Given the description of an element on the screen output the (x, y) to click on. 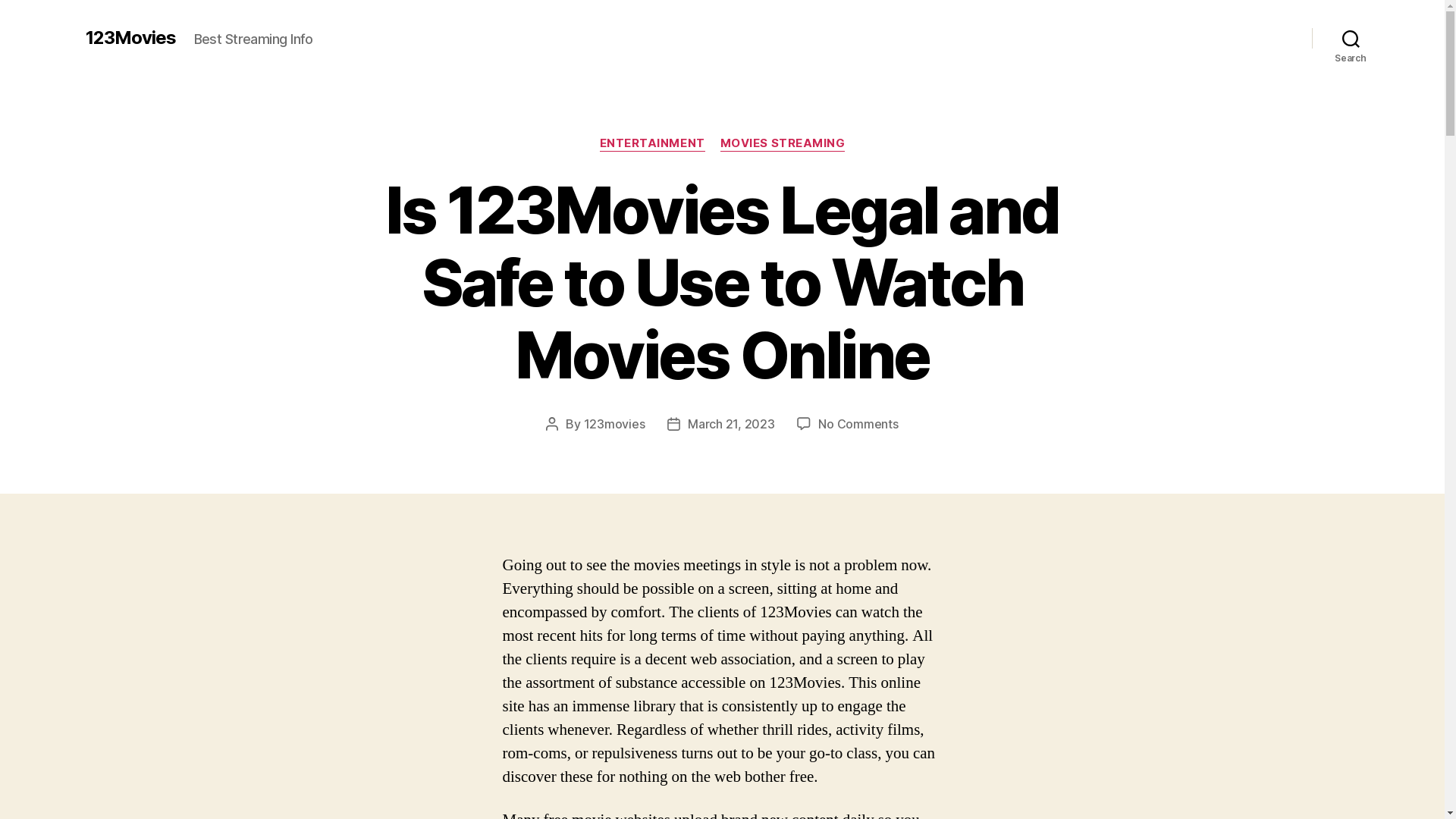
MOVIES STREAMING Element type: text (782, 143)
123Movies Element type: text (129, 37)
Search Element type: text (1350, 37)
March 21, 2023 Element type: text (730, 423)
ENTERTAINMENT Element type: text (652, 143)
123movies Element type: text (614, 423)
